Given the description of an element on the screen output the (x, y) to click on. 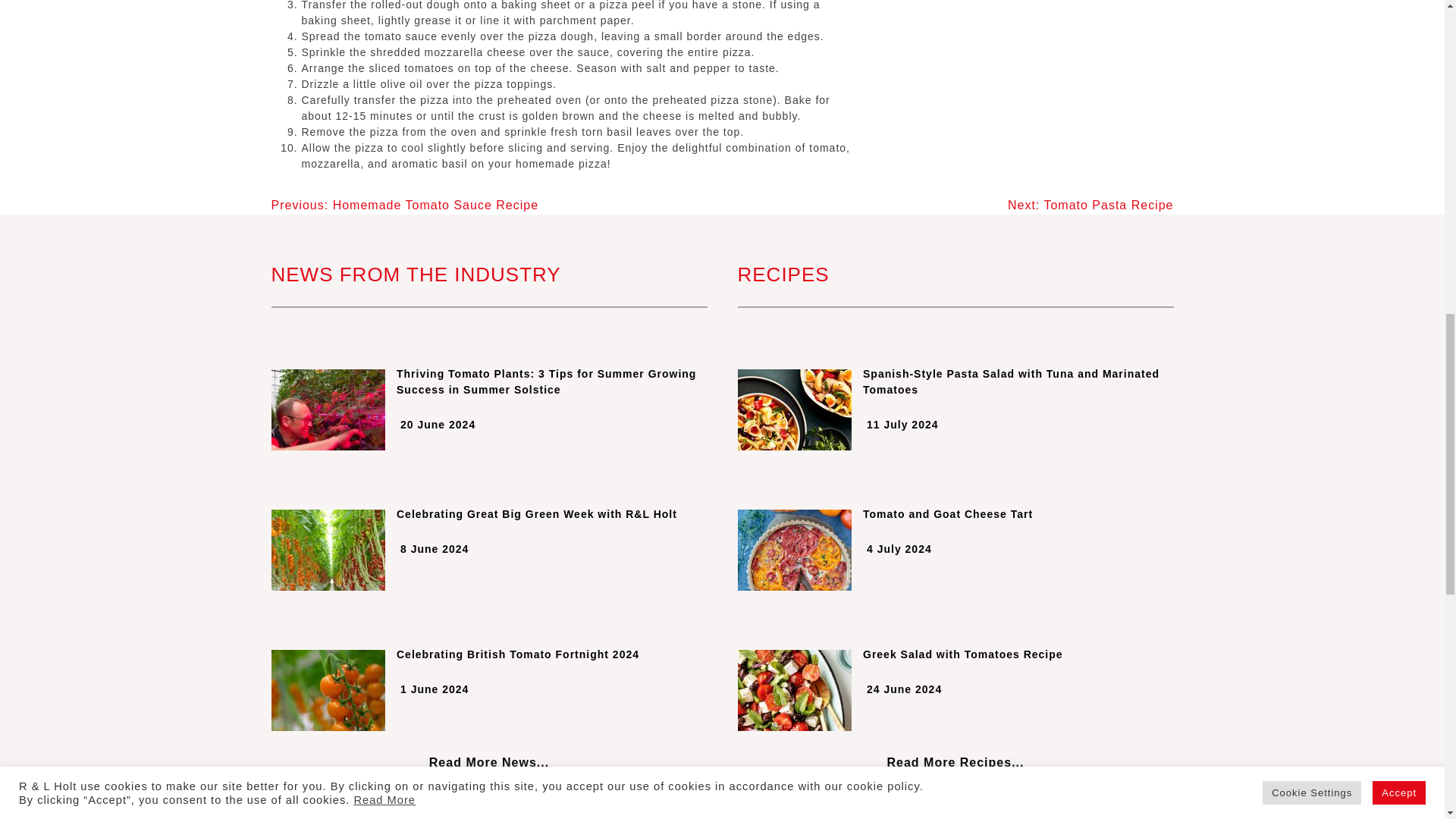
Tomato and Goat Cheese Tart (954, 514)
Read More News... (488, 762)
Previous: Homemade Tomato Sauce Recipe (404, 205)
Celebrating British Tomato Fortnight 2024 (488, 654)
Next: Tomato Pasta Recipe (1090, 205)
Spanish-Style Pasta Salad with Tuna and Marinated Tomatoes (954, 382)
